Given the description of an element on the screen output the (x, y) to click on. 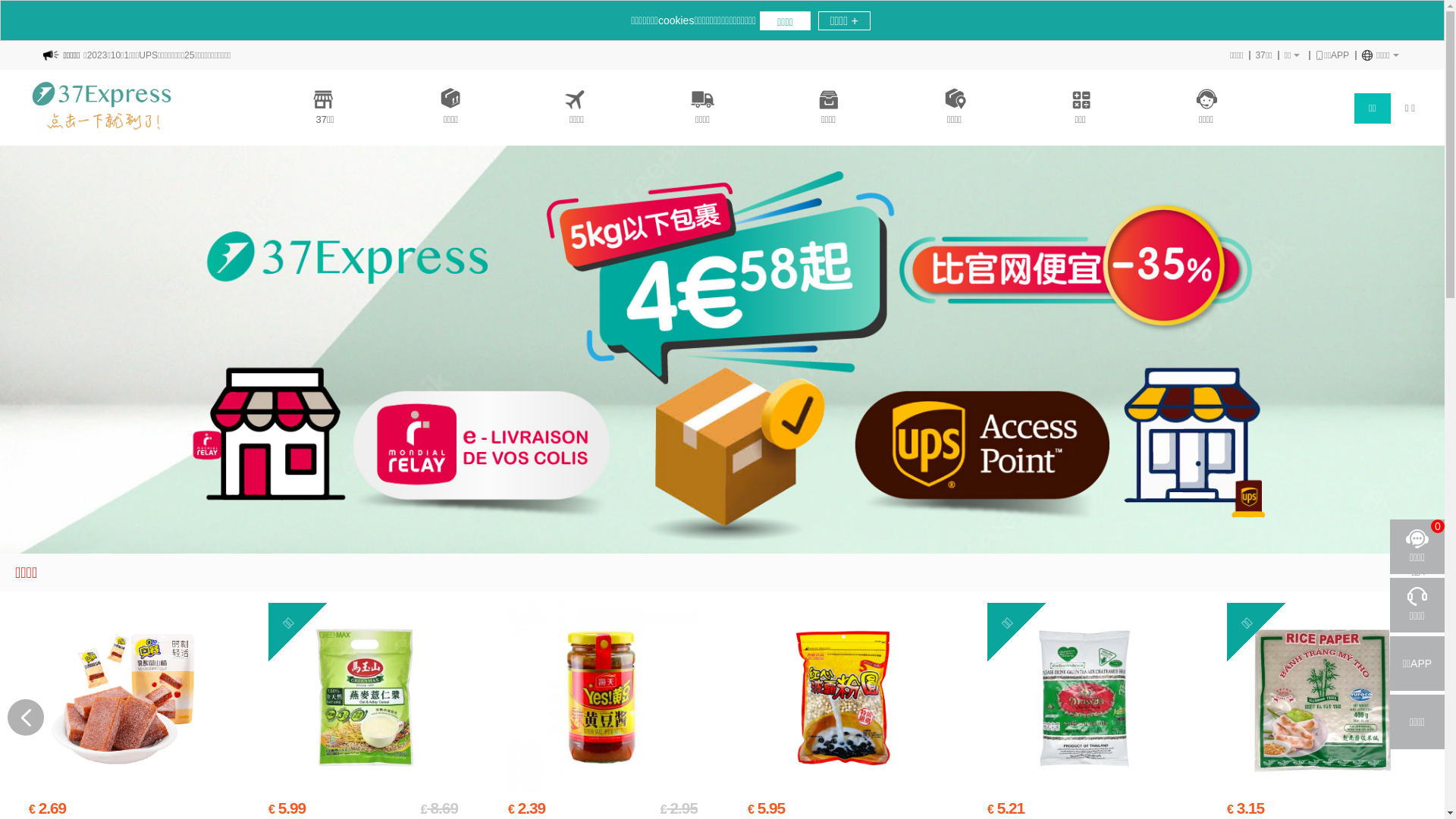
Previous Element type: text (25, 717)
Next Element type: text (1418, 717)
